Given the description of an element on the screen output the (x, y) to click on. 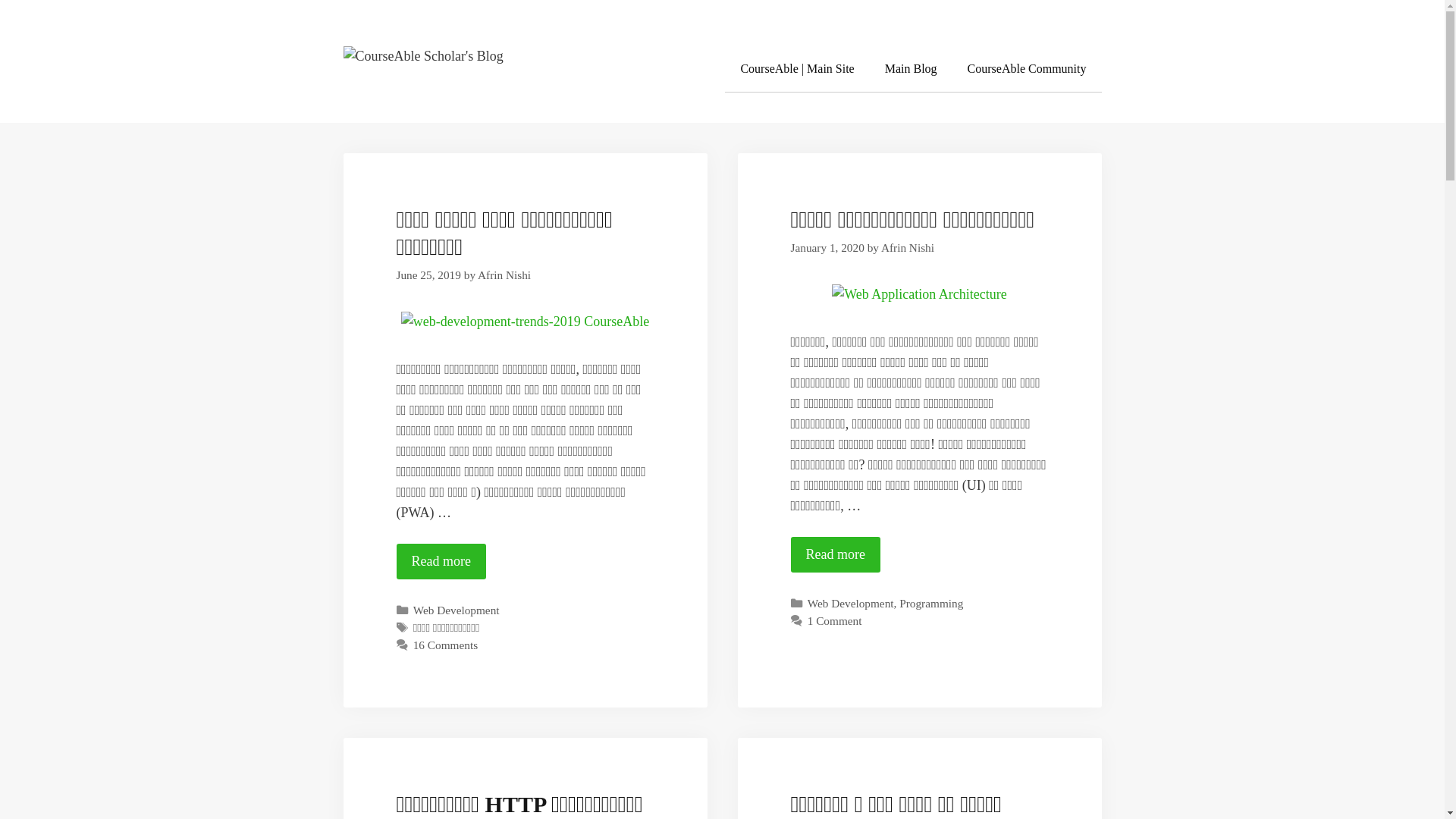
Afrin Nishi Element type: text (907, 247)
1 Comment Element type: text (834, 620)
Main Blog Element type: text (910, 69)
CourseAble | Main Site Element type: text (796, 69)
Afrin Nishi Element type: text (503, 274)
Web Development Element type: text (456, 609)
16 Comments Element type: text (445, 644)
CourseAble Community Element type: text (1026, 69)
Web Development Element type: text (850, 602)
Programming Element type: text (931, 602)
